Given the description of an element on the screen output the (x, y) to click on. 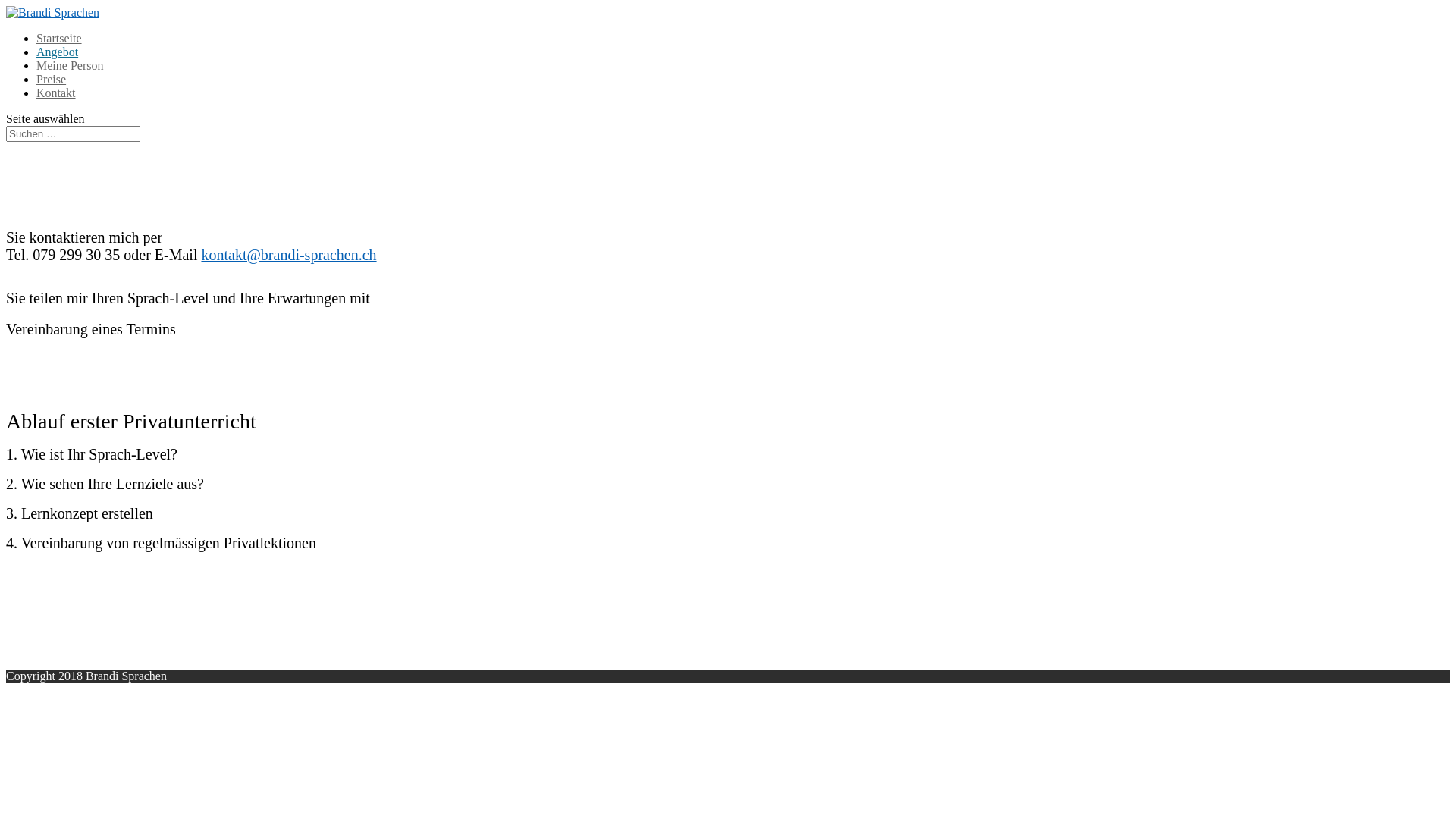
Suchen nach: Element type: hover (73, 133)
kontakt@brandi-sprachen.ch Element type: text (288, 254)
Meine Person Element type: text (69, 65)
Preise Element type: text (50, 78)
Angebot Element type: text (57, 51)
Startseite Element type: text (58, 37)
Kontakt Element type: text (55, 92)
